Given the description of an element on the screen output the (x, y) to click on. 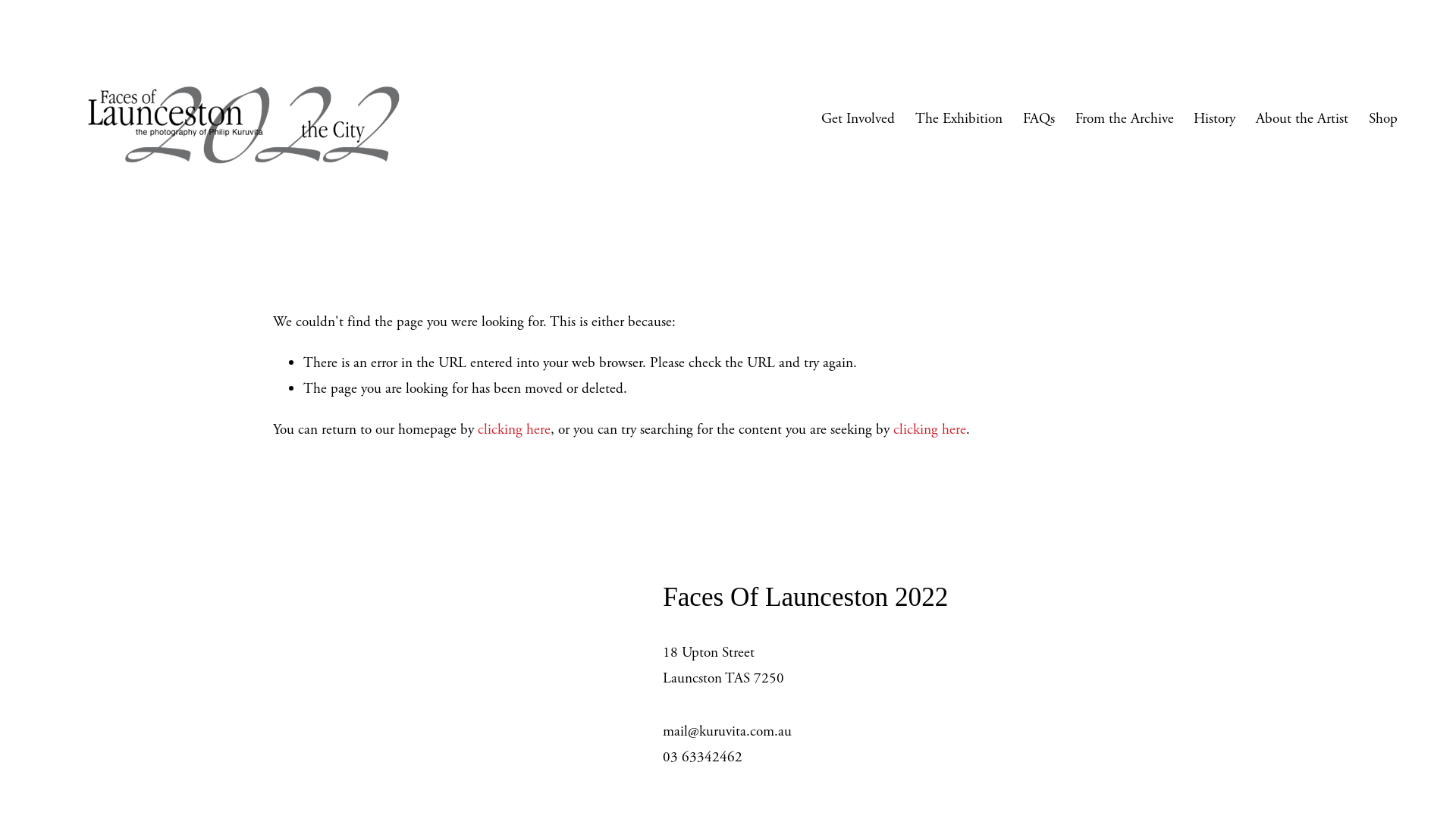
FAQs Element type: text (1038, 118)
Get Involved Element type: text (857, 118)
The Exhibition Element type: text (958, 118)
From the Archive Element type: text (1124, 118)
History Element type: text (1214, 118)
About the Artist Element type: text (1301, 118)
clicking here Element type: text (513, 429)
clicking here Element type: text (929, 429)
Shop Element type: text (1382, 118)
